Given the description of an element on the screen output the (x, y) to click on. 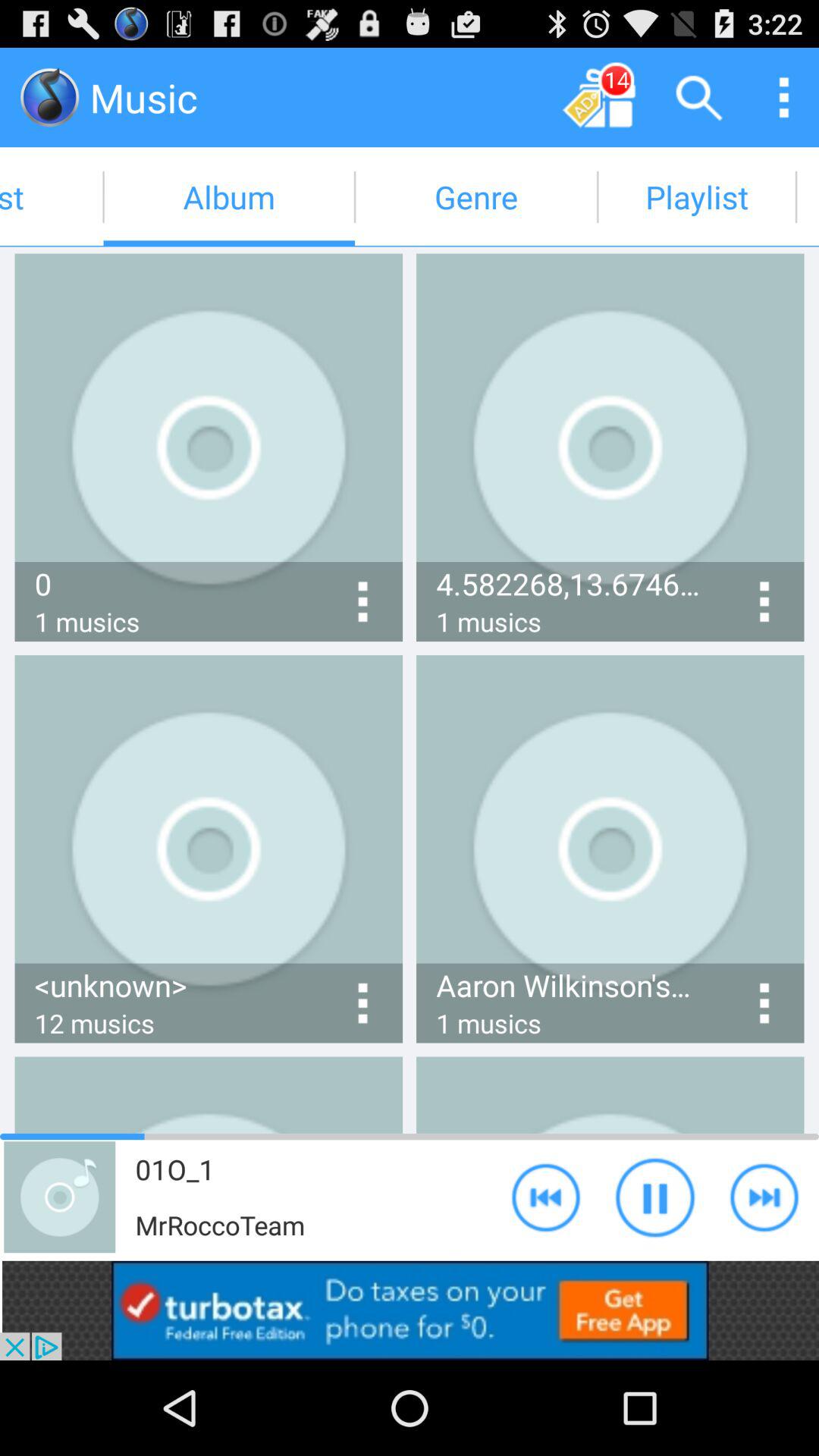
pause (654, 1196)
